Given the description of an element on the screen output the (x, y) to click on. 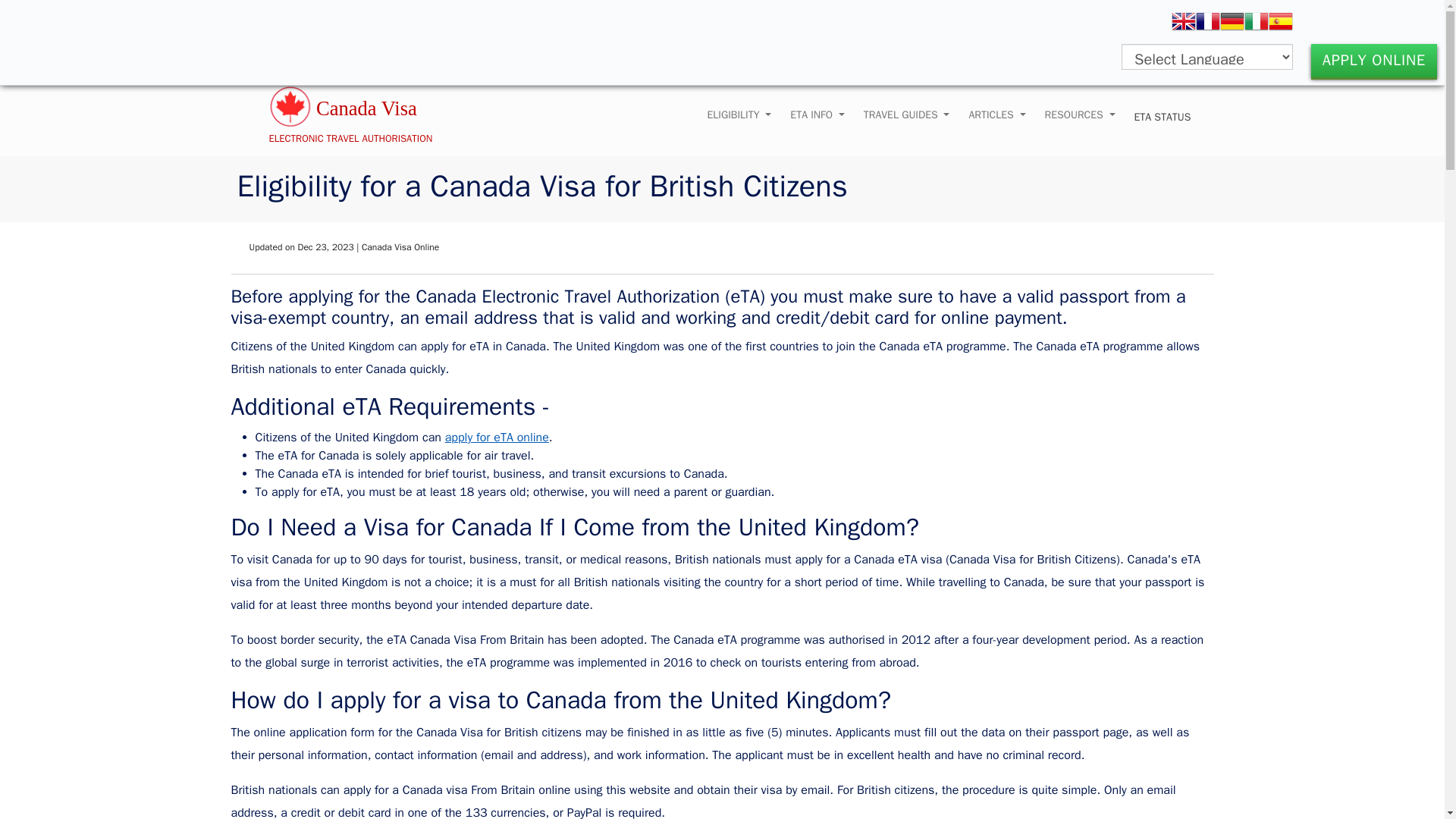
ETA INFO (817, 115)
ELIGIBILITY (738, 115)
TRAVEL GUIDES (907, 115)
Canada Visa Online (362, 111)
ELECTRONIC TRAVEL AUTHORISATION (362, 111)
APPLY ONLINE (1374, 60)
